Given the description of an element on the screen output the (x, y) to click on. 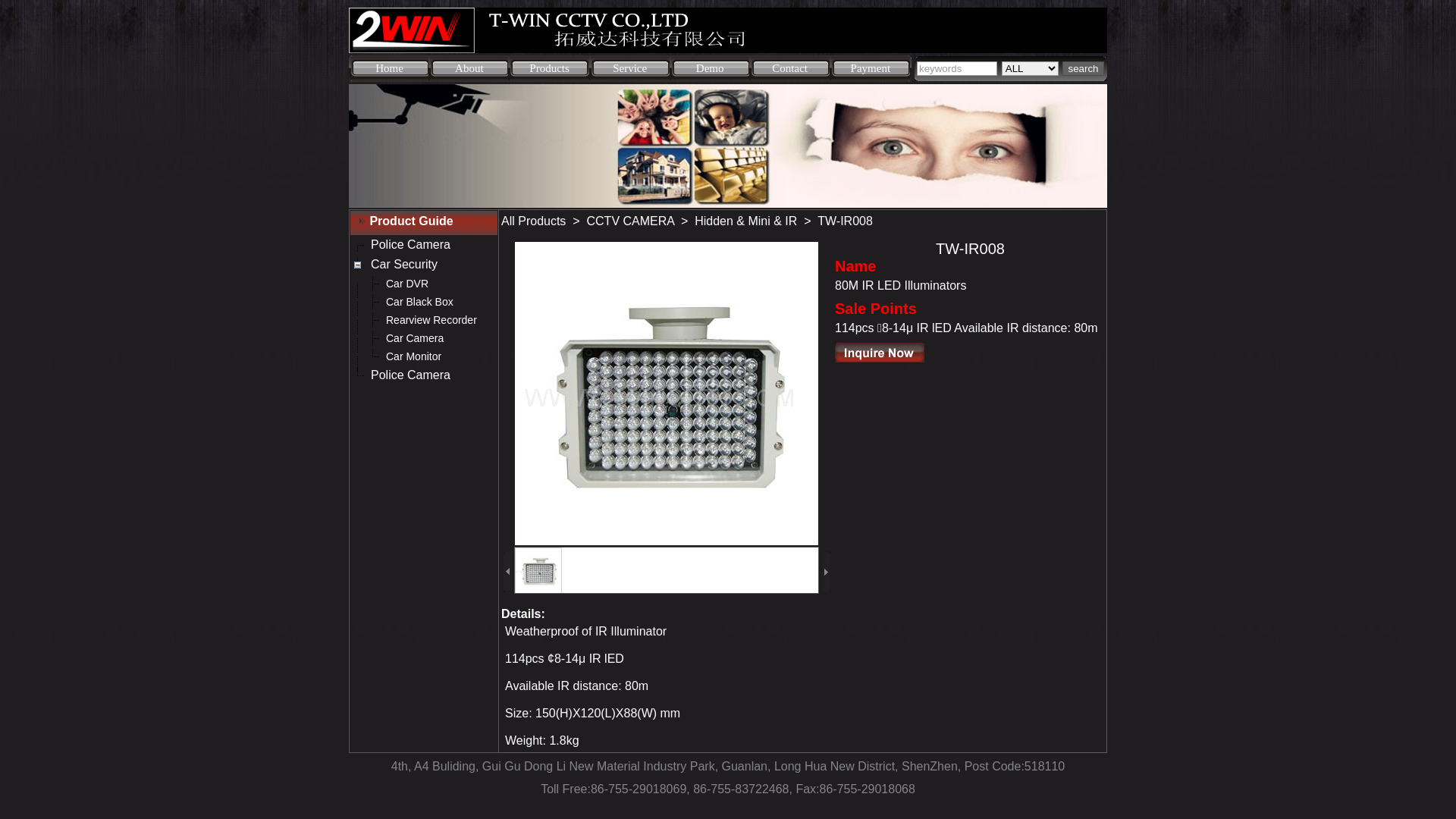
Demo Element type: text (710, 68)
All Products Element type: text (533, 220)
About Element type: text (469, 68)
Car Black Box Element type: text (419, 301)
CCTV CAMERA Element type: text (630, 220)
Products Element type: text (549, 68)
Police Camera Element type: text (410, 375)
Car DVR Element type: text (406, 283)
Service Element type: text (629, 68)
Car Security Element type: text (403, 264)
Police Camera Element type: text (410, 244)
Car Camera Element type: text (414, 338)
Contact Element type: text (789, 68)
Car Monitor Element type: text (413, 356)
Hidden & Mini & IR Element type: text (745, 220)
Home Element type: text (389, 68)
Payment Element type: text (870, 68)
Rearview Recorder Element type: text (431, 319)
